Given the description of an element on the screen output the (x, y) to click on. 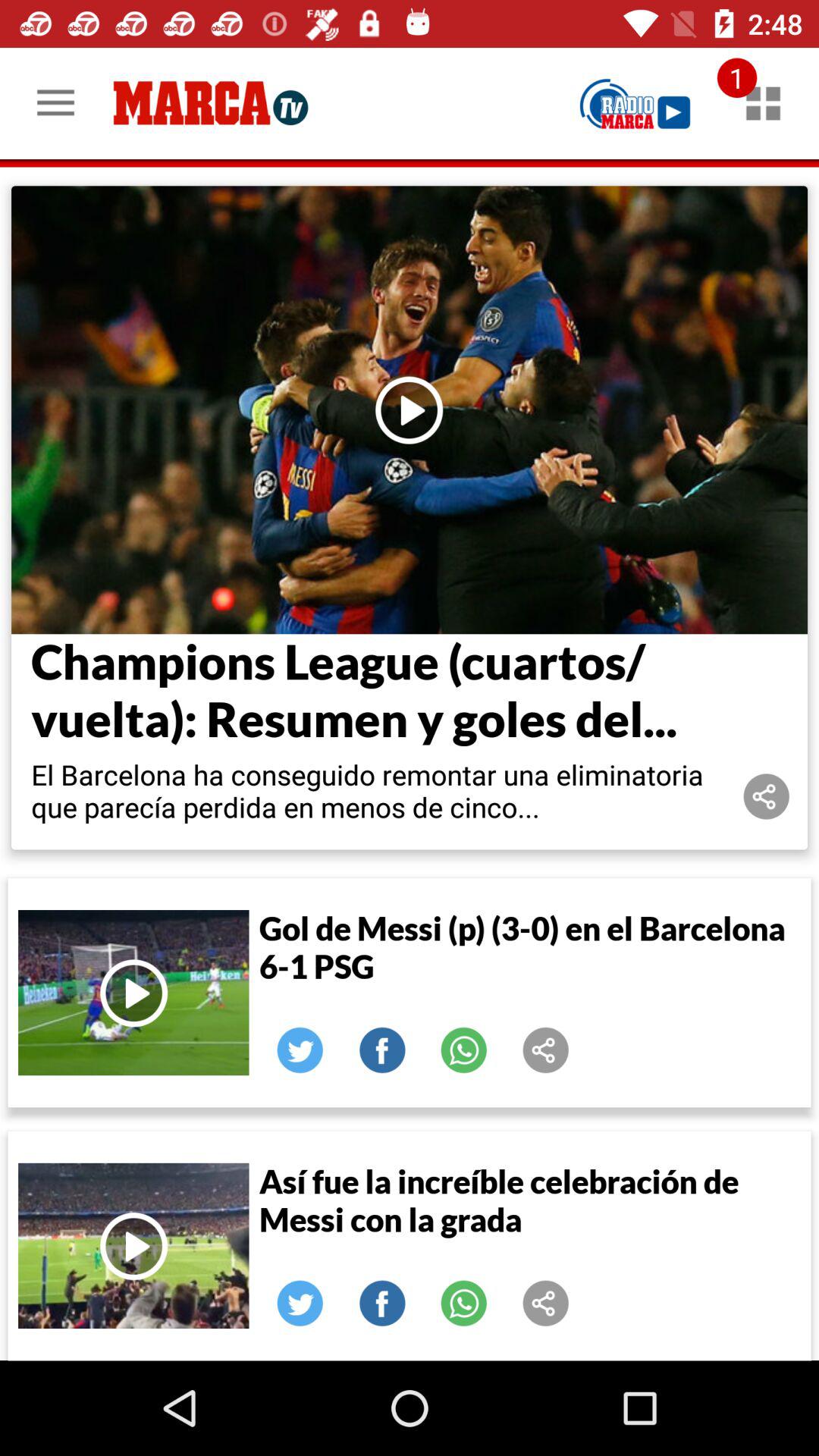
play video (409, 409)
